Given the description of an element on the screen output the (x, y) to click on. 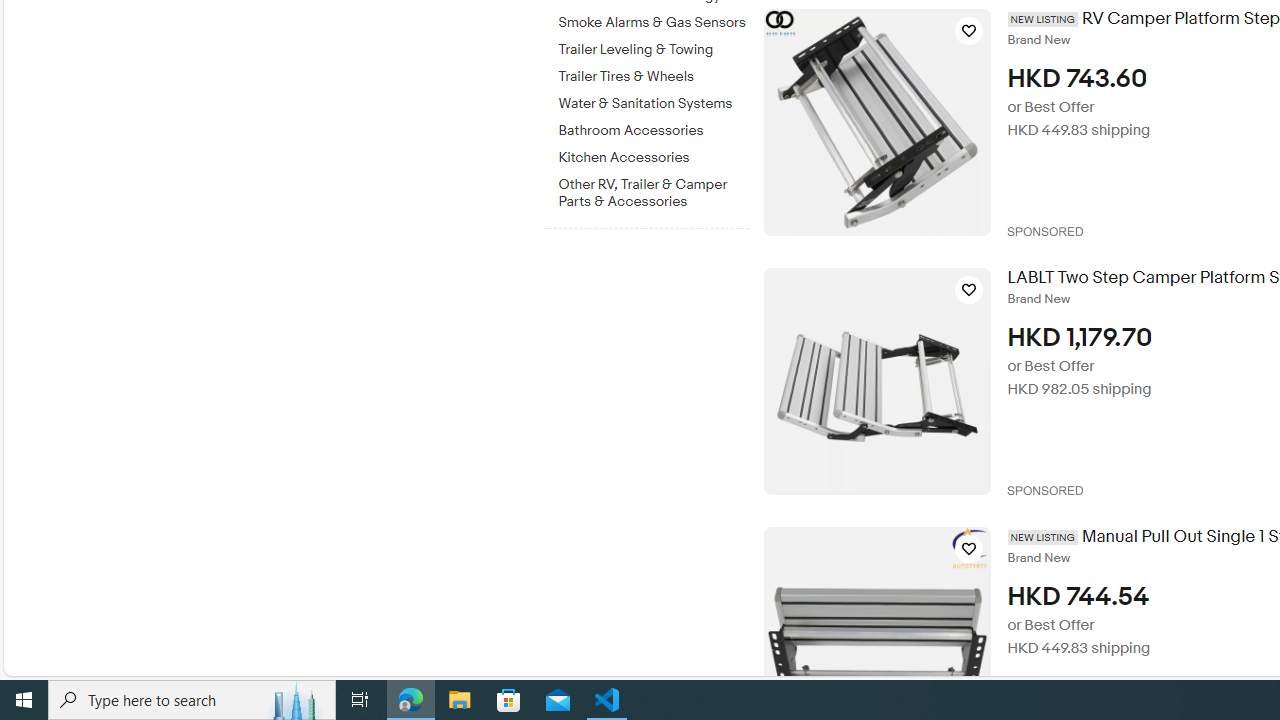
Other RV, Trailer & Camper Parts & Accessories (653, 189)
Trailer Tires & Wheels (653, 77)
Bathroom Accessories (653, 127)
Kitchen Accessories (653, 158)
Water & Sanitation Systems (653, 100)
Smoke Alarms & Gas Sensors (653, 19)
Kitchen Accessories (653, 154)
Other RV, Trailer & Camper Parts & Accessories (653, 193)
Bathroom Accessories (653, 131)
Trailer Tires & Wheels (653, 73)
Water & Sanitation Systems (653, 104)
Smoke Alarms & Gas Sensors (653, 23)
